Given the description of an element on the screen output the (x, y) to click on. 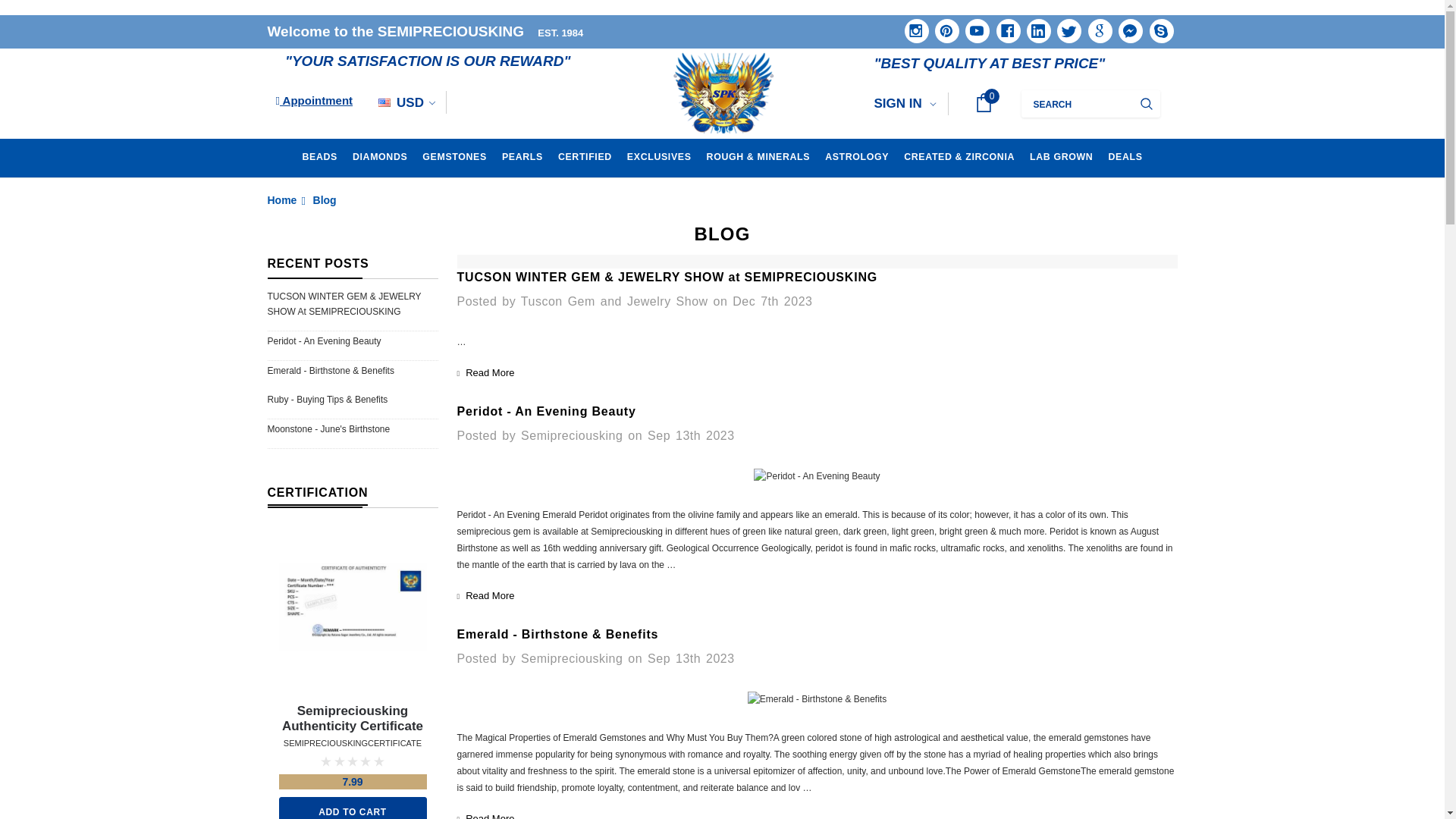
pinterest (941, 25)
linkedin (1033, 25)
twitter (1063, 24)
youtube (971, 25)
facebook (1002, 25)
USD (406, 101)
Semipreciousking (722, 93)
Google (1094, 25)
Skype (1156, 25)
instagram (911, 25)
